Given the description of an element on the screen output the (x, y) to click on. 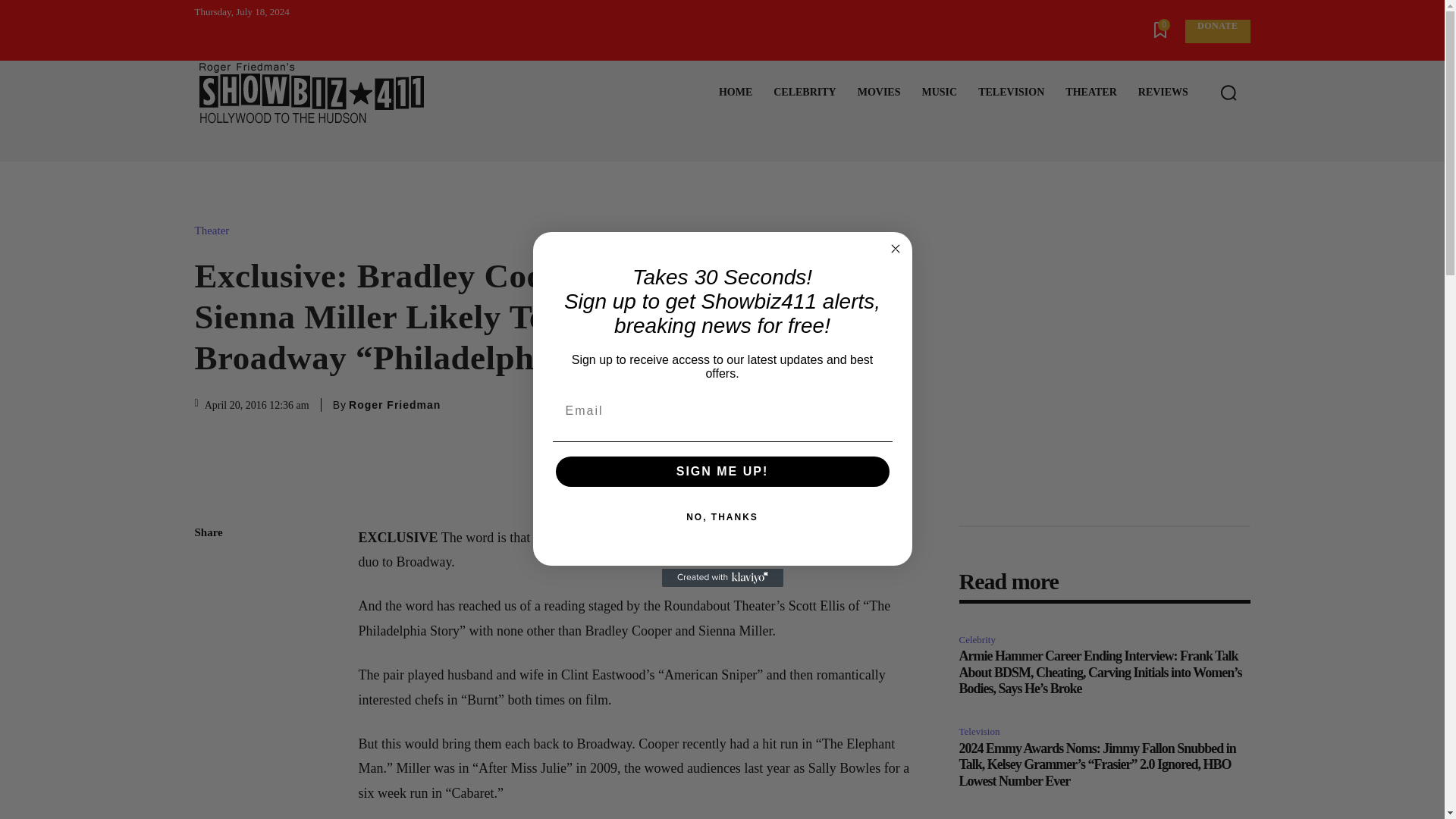
THEATER (1090, 92)
MOVIES (879, 92)
Donate (1217, 31)
REVIEWS (1162, 92)
CELEBRITY (803, 92)
TELEVISION (1011, 92)
DONATE (1217, 31)
Theater (214, 230)
HOME (734, 92)
MUSIC (939, 92)
